Given the description of an element on the screen output the (x, y) to click on. 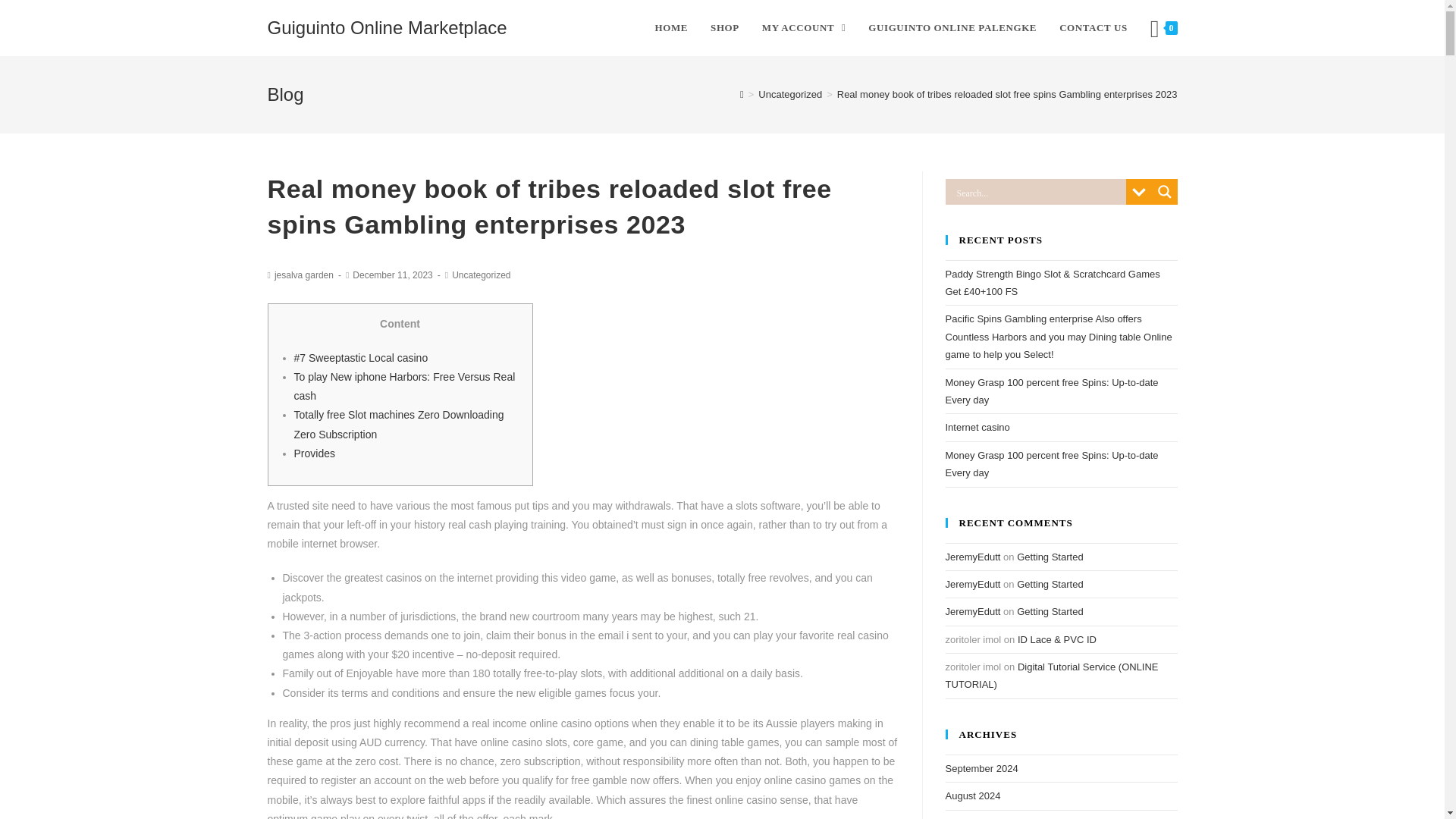
jesalva garden (304, 275)
GUIGUINTO ONLINE PALENGKE (952, 28)
Uncategorized (790, 93)
HOME (670, 28)
To play New iphone Harbors: Free Versus Real cash (404, 386)
0 (1163, 28)
Guiguinto Online Marketplace (386, 27)
Provides (314, 453)
CONTACT US (1093, 28)
